Given the description of an element on the screen output the (x, y) to click on. 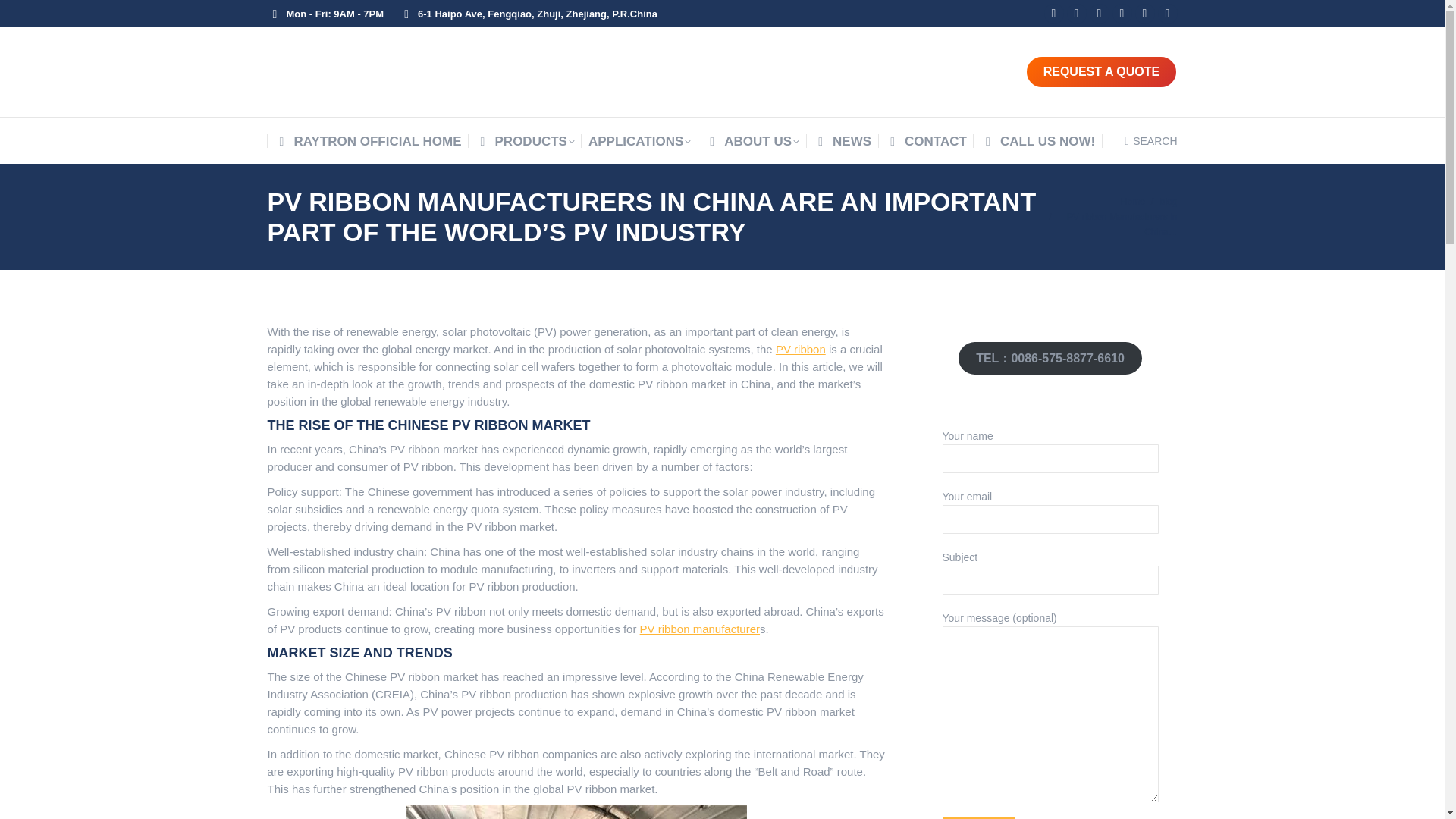
REQUEST A QUOTE (1100, 71)
PV RIBBON manufacturer (700, 628)
PV RIBBON (800, 349)
Linkedin page opens in new window (1122, 13)
X page opens in new window (1099, 13)
PRODUCTS (525, 141)
X page opens in new window (1099, 13)
Mail page opens in new window (1053, 13)
RAYTRON OFFICIAL HOME (368, 141)
NEWS (841, 141)
Facebook page opens in new window (1076, 13)
CALL US NOW! (1036, 141)
Facebook page opens in new window (1076, 13)
Go! (25, 15)
CONTACT (925, 141)
